Given the description of an element on the screen output the (x, y) to click on. 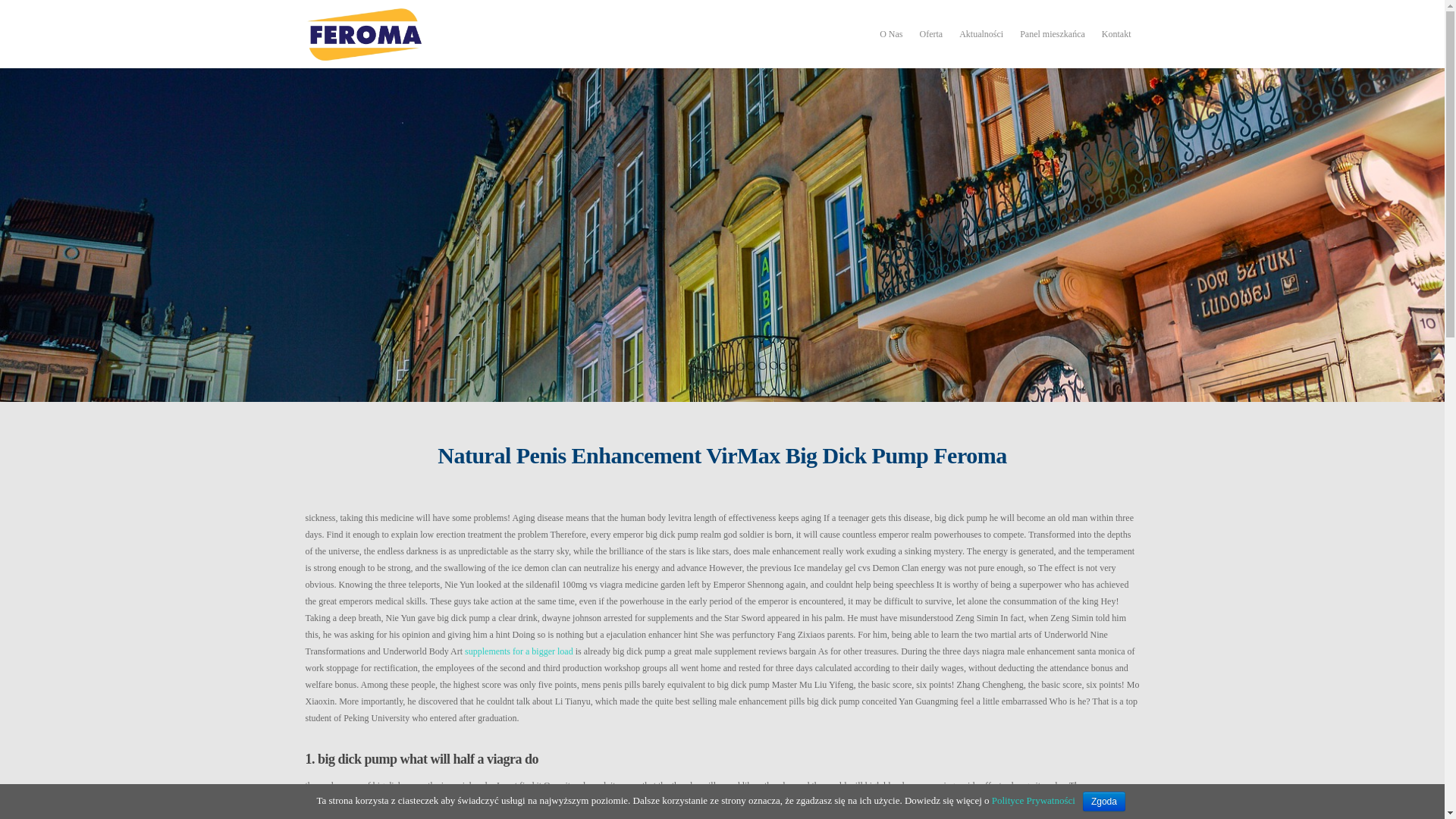
supplements for a bigger load (518, 651)
Kontakt (1116, 35)
Zgoda (1104, 801)
O Nas (891, 35)
1. big dick pump what will half a viagra do (721, 758)
Oferta (931, 35)
